Given the description of an element on the screen output the (x, y) to click on. 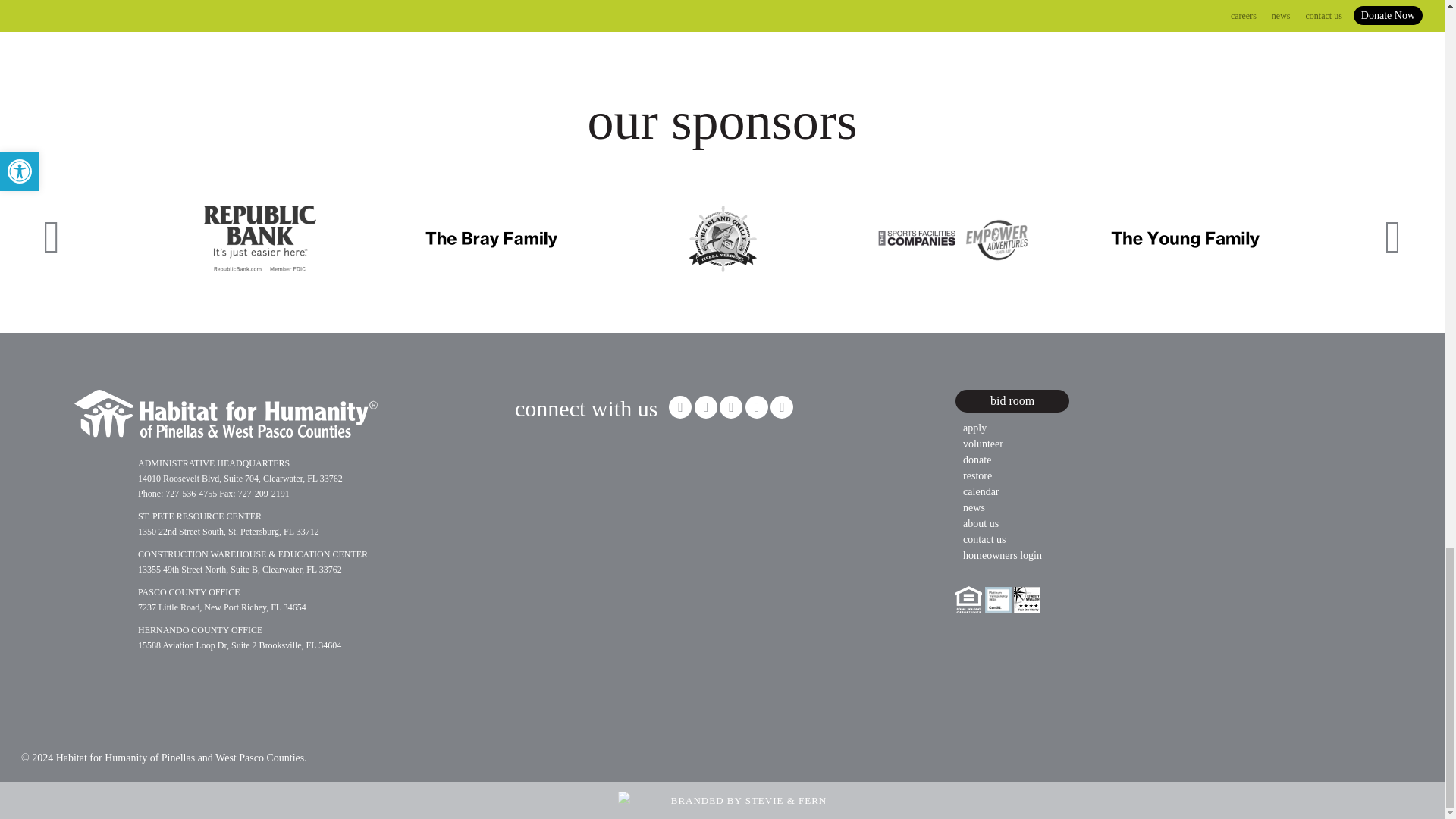
Form 1 (628, 501)
Form 0 (722, 7)
